Given the description of an element on the screen output the (x, y) to click on. 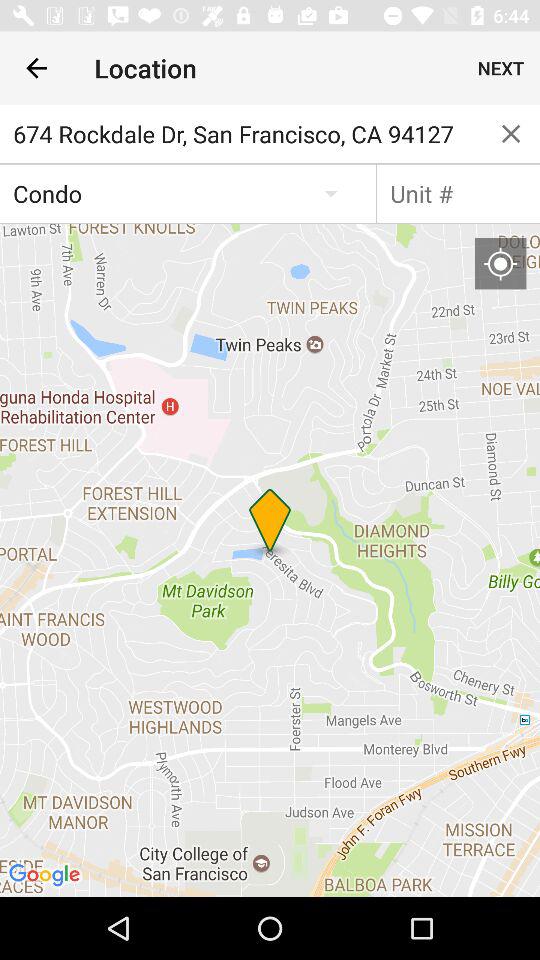
cancel search (511, 133)
